Given the description of an element on the screen output the (x, y) to click on. 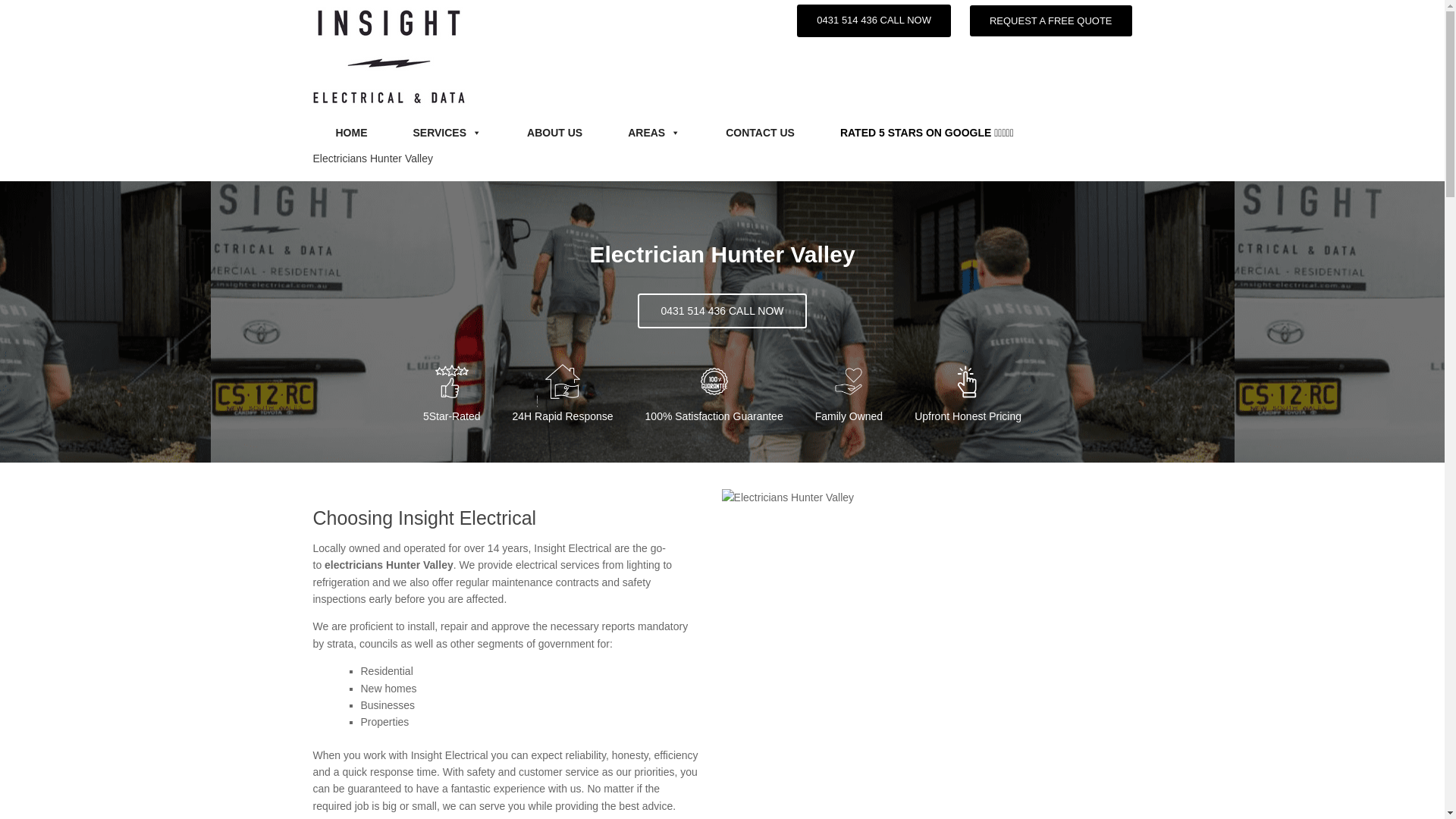
HOME Element type: text (350, 132)
SERVICES Element type: text (446, 132)
0431 514 436 CALL NOW Element type: text (873, 20)
REQUEST A FREE QUOTE Element type: text (1050, 20)
Insight Electrical & Data Element type: hover (388, 55)
AREAS Element type: text (653, 132)
0431 514 436 CALL NOW Element type: text (721, 310)
ABOUT US Element type: text (554, 132)
CONTACT US Element type: text (759, 132)
